Given the description of an element on the screen output the (x, y) to click on. 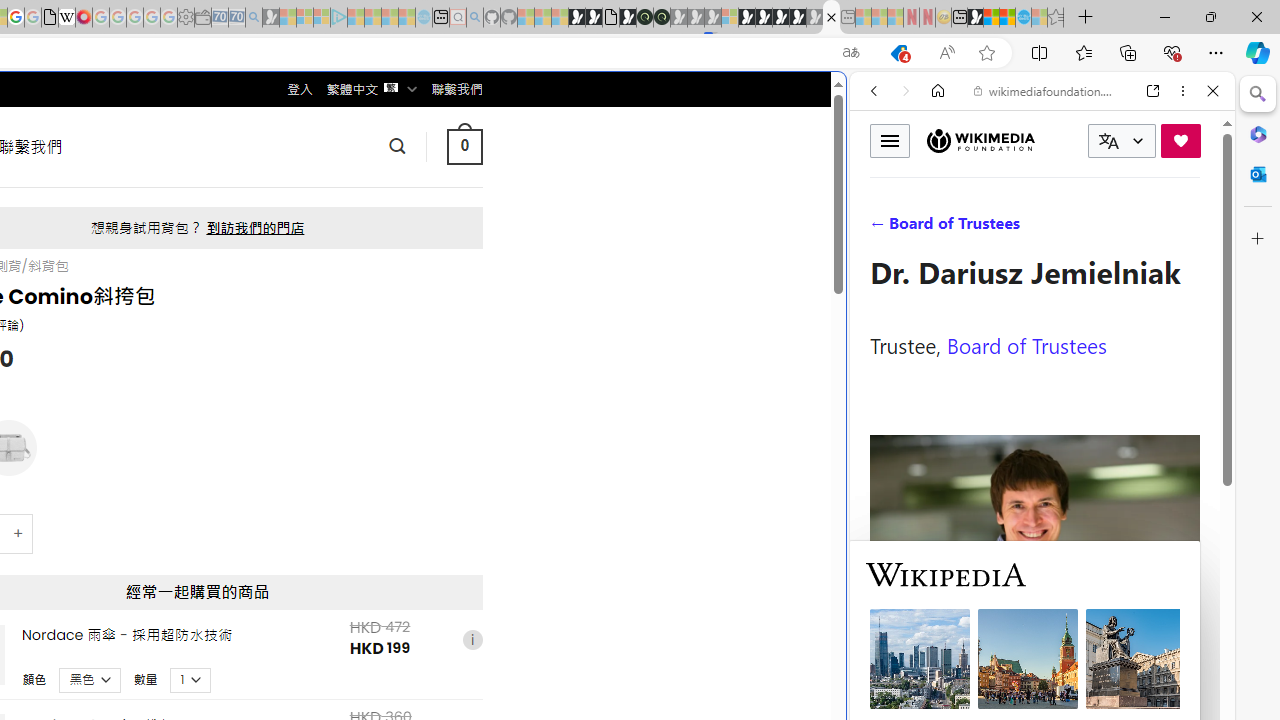
MediaWiki (83, 17)
Target page - Wikipedia (66, 17)
Earth has six continents not seven, radical new study claims (1007, 17)
Wikimedia Foundation (980, 140)
i (472, 639)
